Given the description of an element on the screen output the (x, y) to click on. 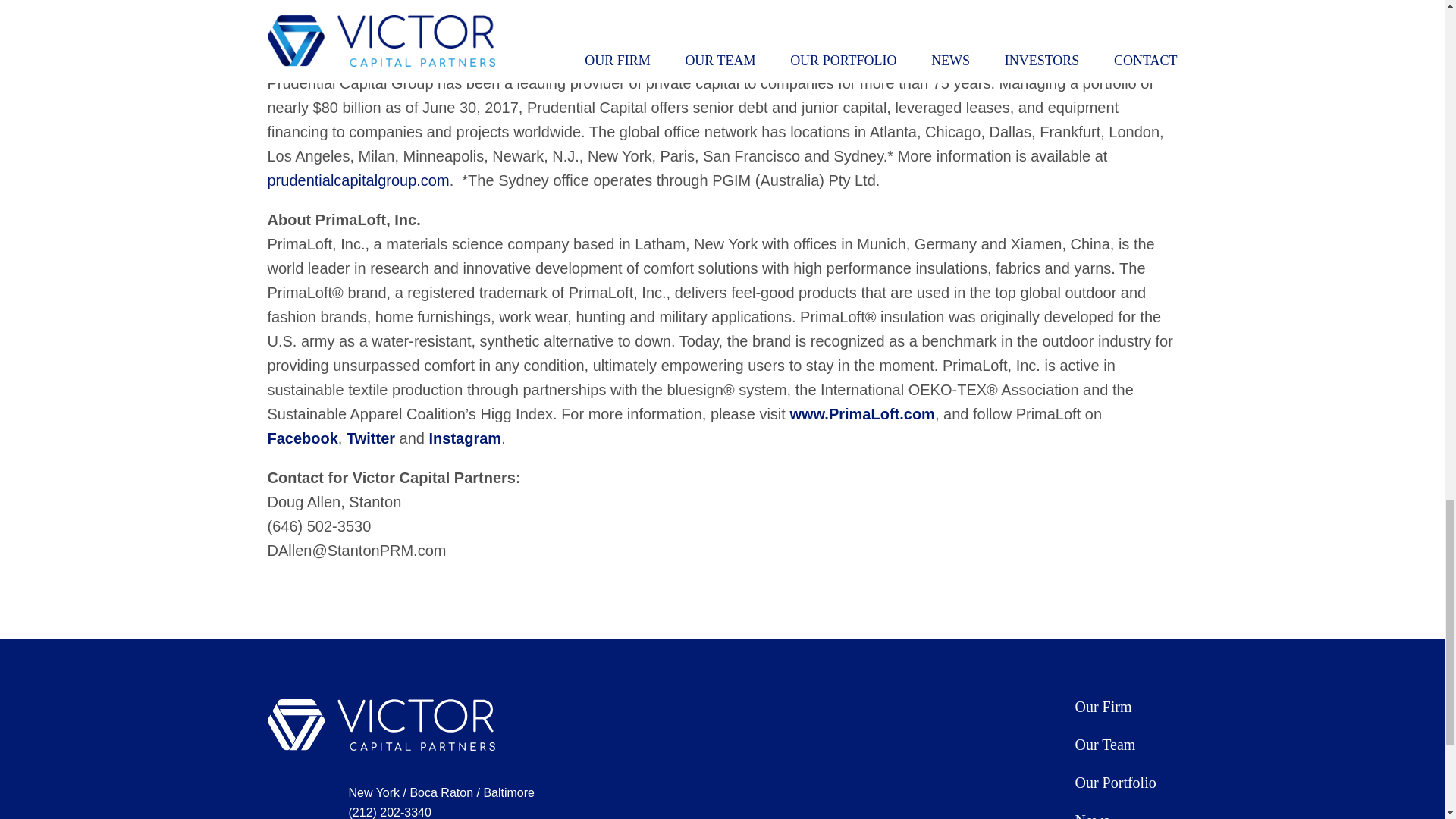
prudentialcapitalgroup.com (357, 180)
Our Portfolio (1115, 782)
www.PrimaLoft.com (861, 413)
Our Firm (1103, 706)
News (1092, 815)
Instagram (465, 437)
Twitter (370, 437)
Our Team (1105, 744)
Facebook (301, 437)
